Given the description of an element on the screen output the (x, y) to click on. 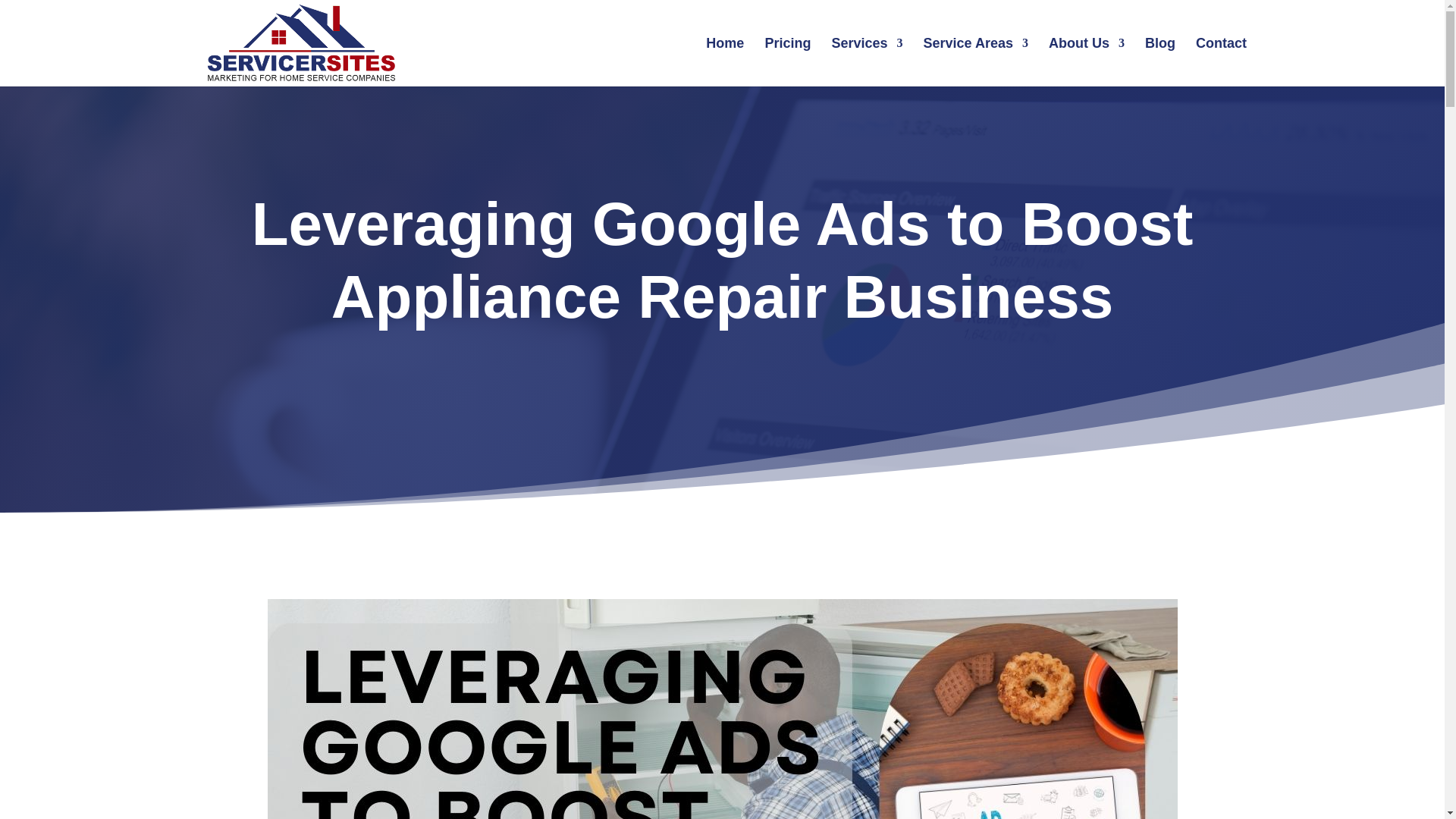
Services (866, 61)
About Us (1086, 61)
Contact (1220, 61)
Service Areas (975, 61)
Pricing (787, 61)
